Given the description of an element on the screen output the (x, y) to click on. 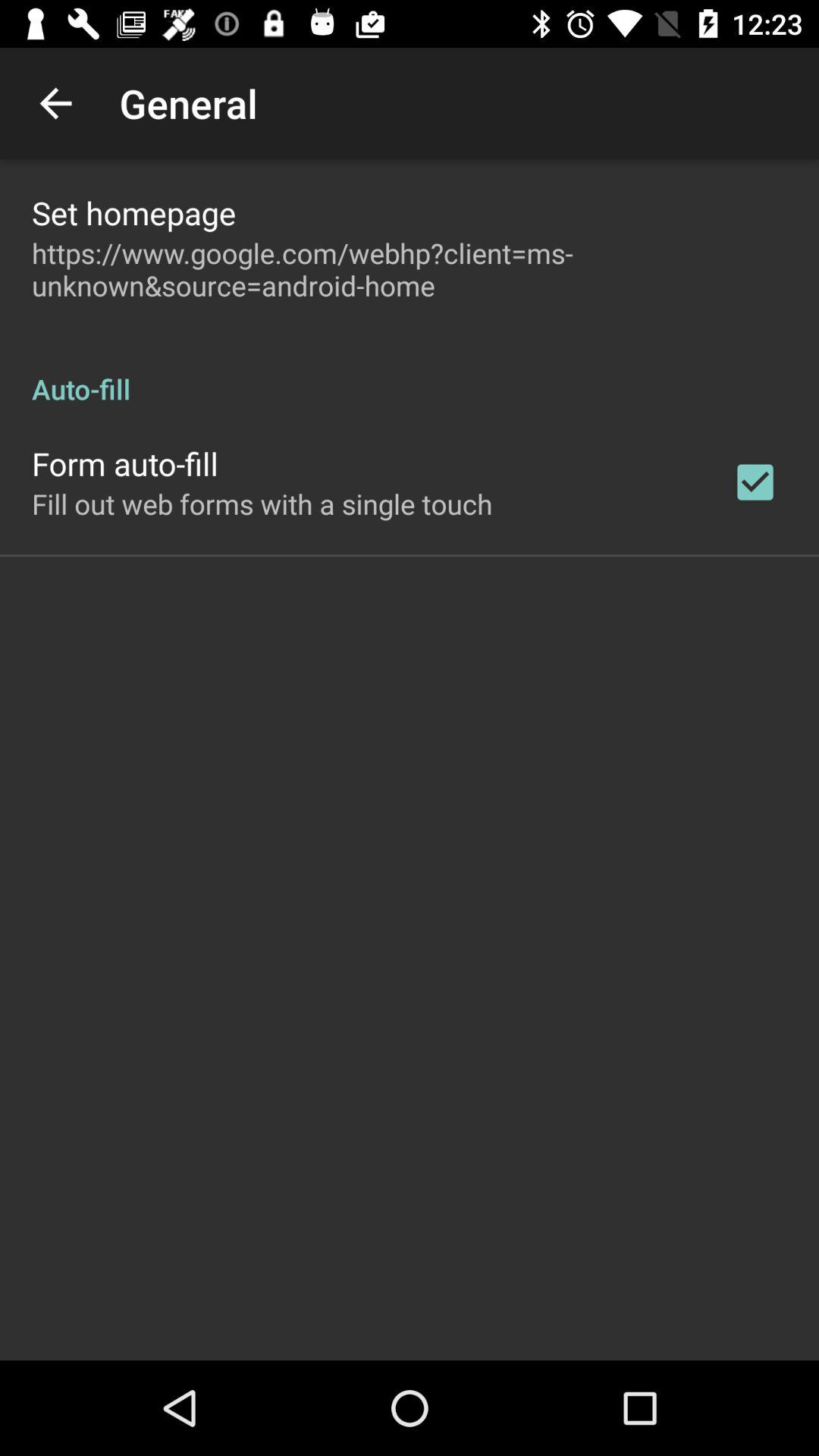
tap app next to the general app (55, 103)
